Given the description of an element on the screen output the (x, y) to click on. 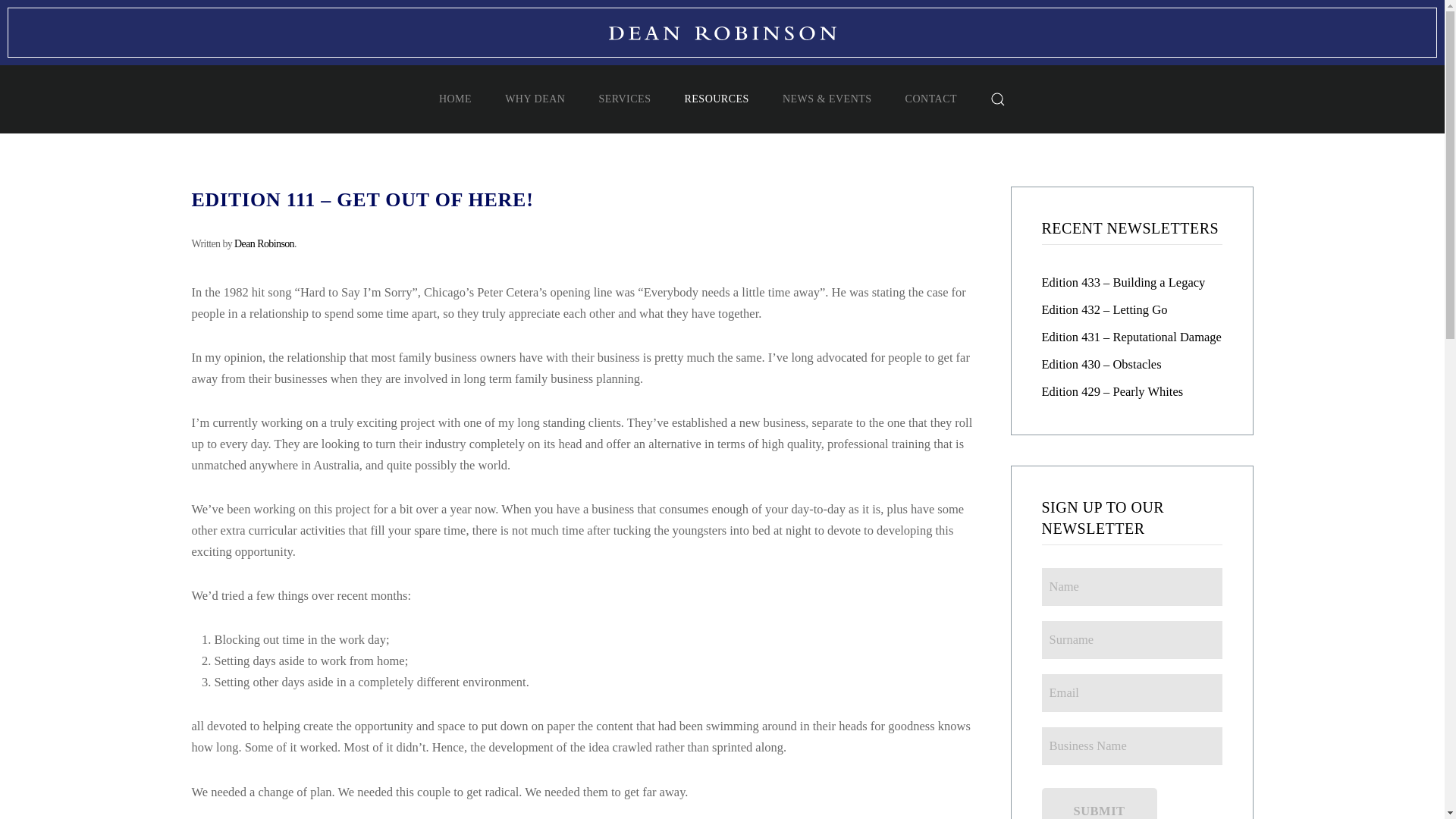
WHY DEAN (534, 98)
RESOURCES (716, 98)
SERVICES (624, 98)
Submit (1099, 803)
